Given the description of an element on the screen output the (x, y) to click on. 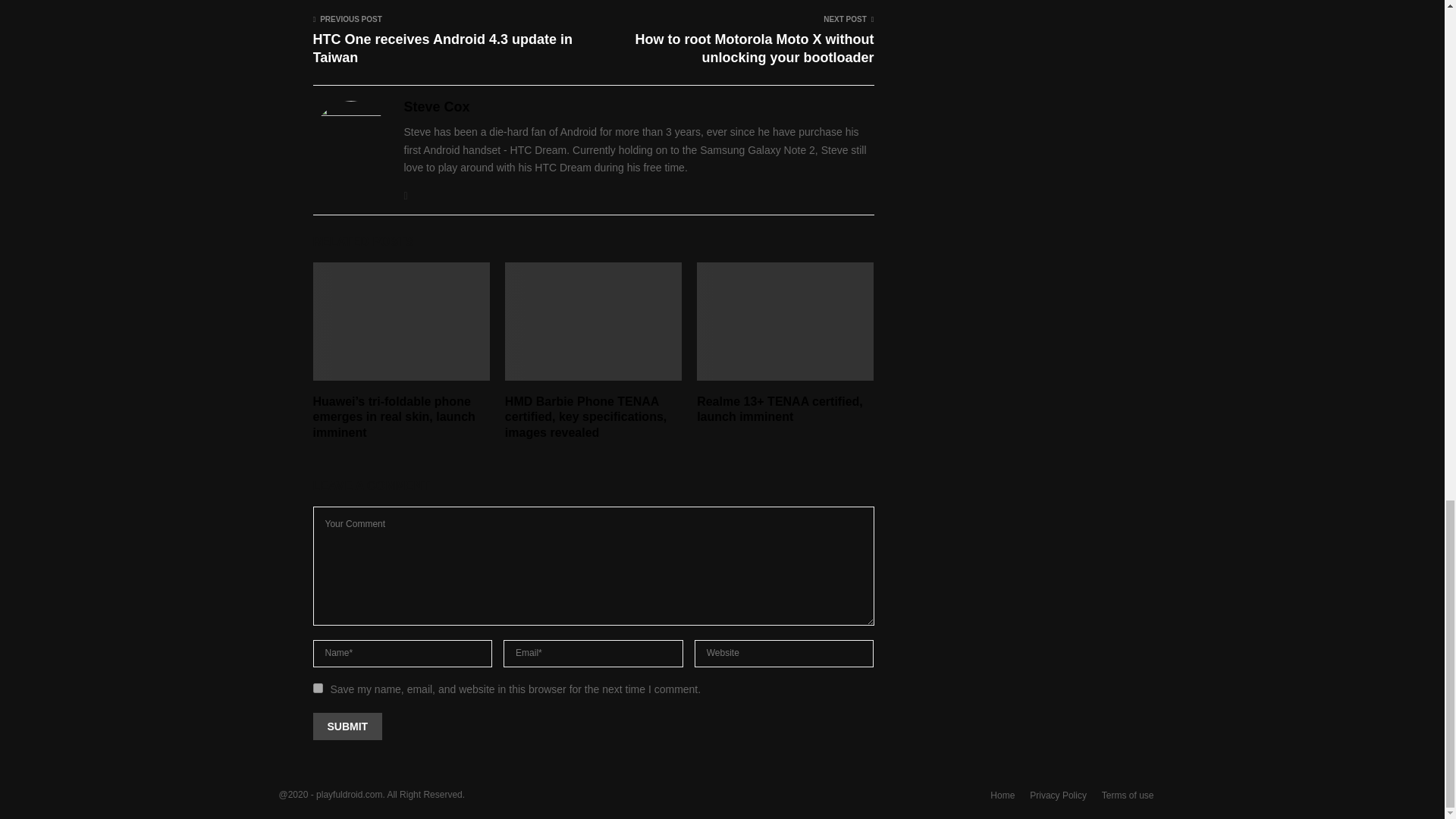
yes (317, 687)
Posts by Steve Cox (435, 107)
Submit (347, 726)
